Given the description of an element on the screen output the (x, y) to click on. 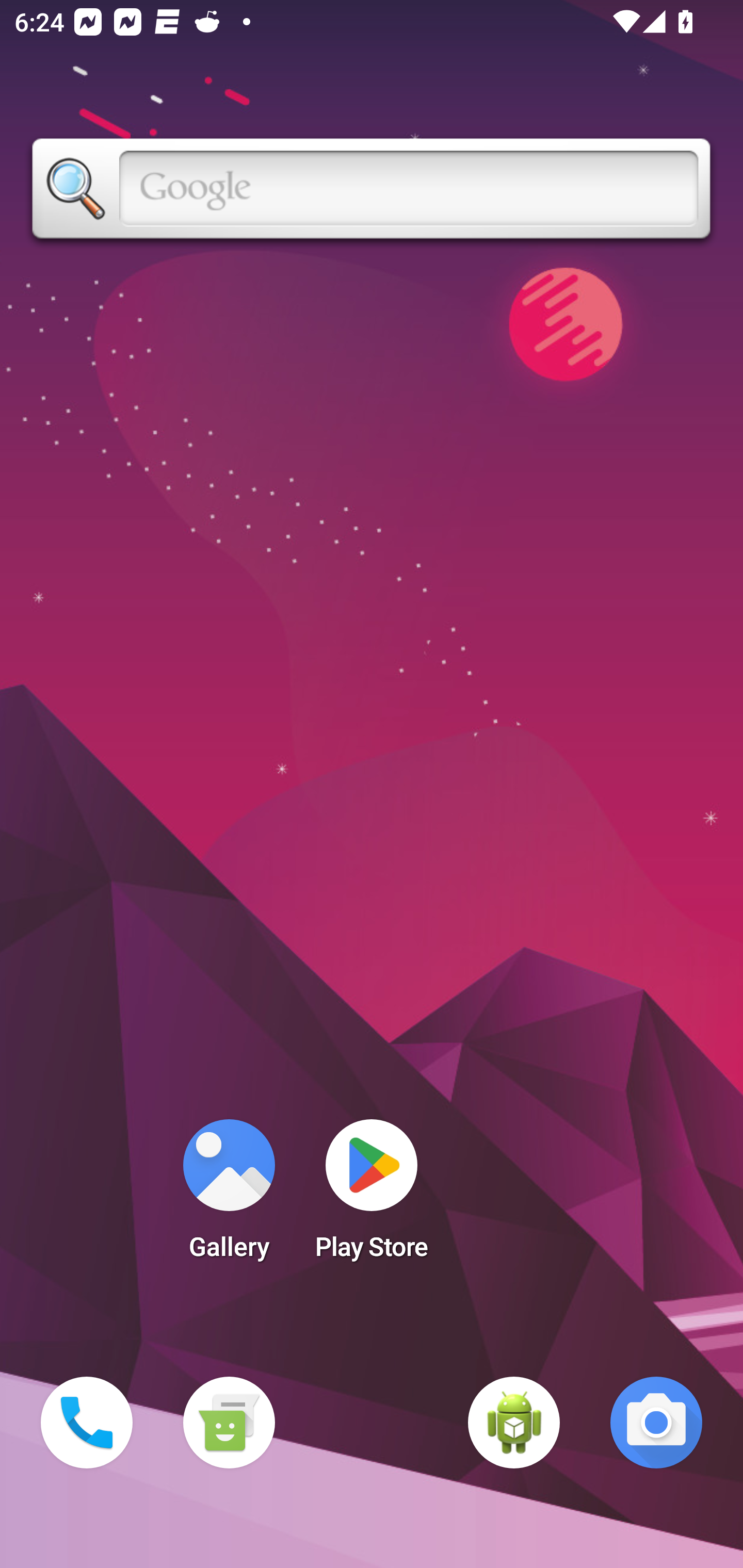
Gallery (228, 1195)
Play Store (371, 1195)
Phone (86, 1422)
Messaging (228, 1422)
WebView Browser Tester (513, 1422)
Camera (656, 1422)
